Given the description of an element on the screen output the (x, y) to click on. 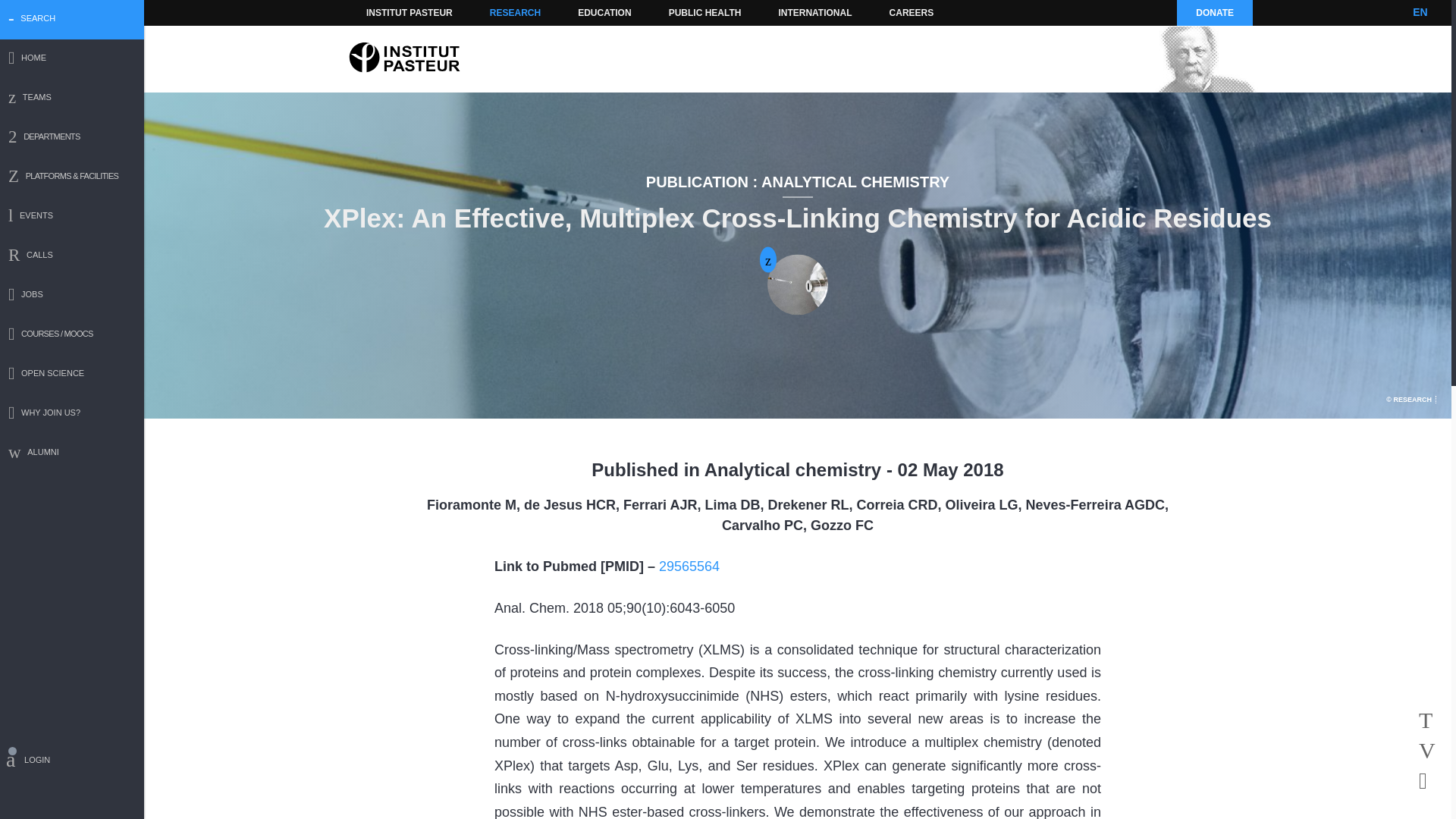
CALLS (72, 256)
HOME (72, 59)
CAREERS (911, 12)
WHY JOIN US? (72, 413)
EVENTS (72, 217)
Skip to content (387, 11)
EDUCATION (603, 12)
PUBLIC HEALTH (705, 12)
Skip to content (387, 11)
LOGIN (72, 762)
INTERNATIONAL (814, 12)
ALUMNI (72, 454)
RESEARCH (515, 12)
JOBS (72, 296)
TEAMS (72, 98)
